Given the description of an element on the screen output the (x, y) to click on. 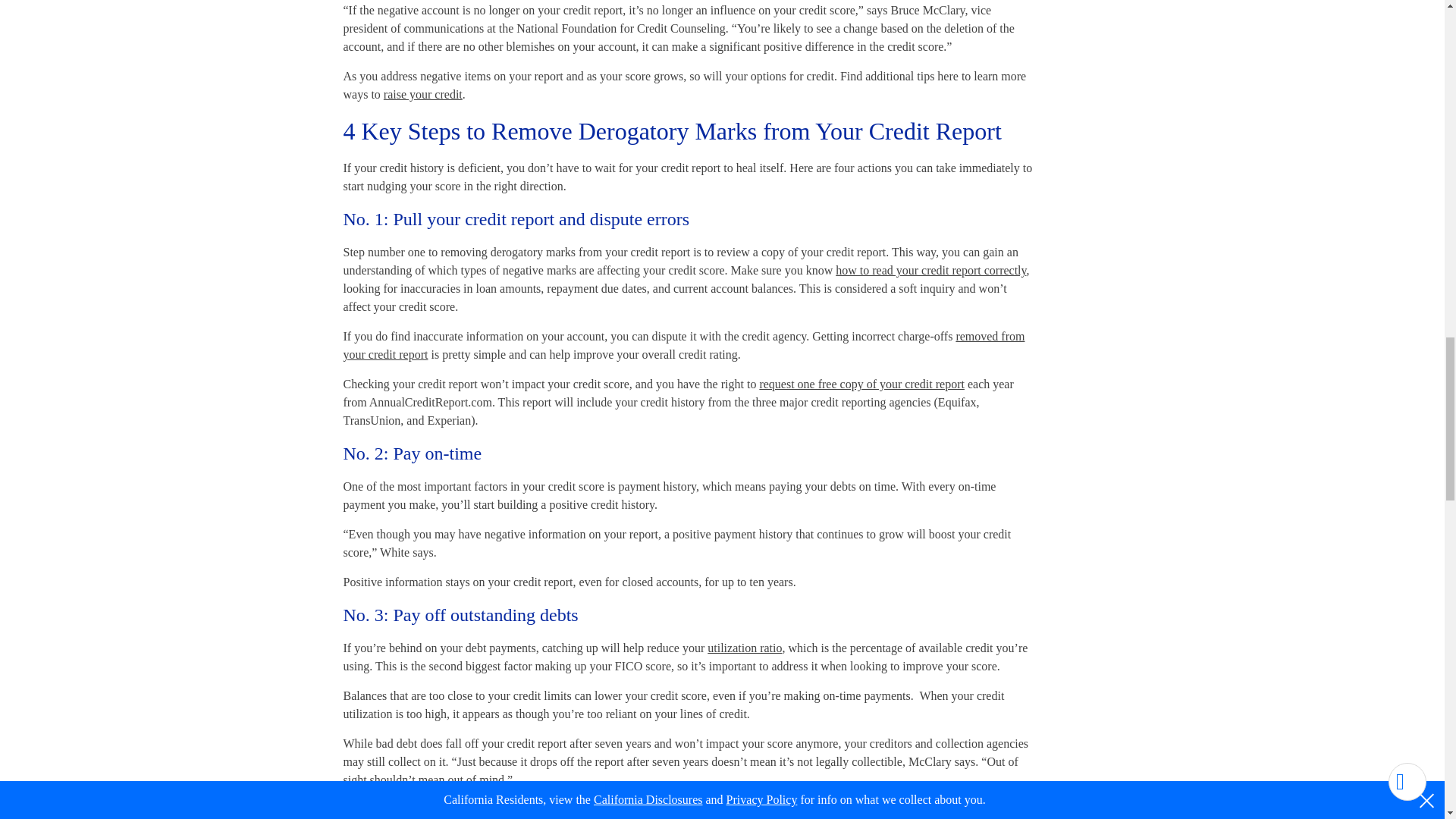
removed from your credit report (683, 345)
raise your credit (423, 93)
request one free copy of your credit report (860, 383)
how to read your credit report correctly (930, 269)
utilization ratio (744, 647)
